Given the description of an element on the screen output the (x, y) to click on. 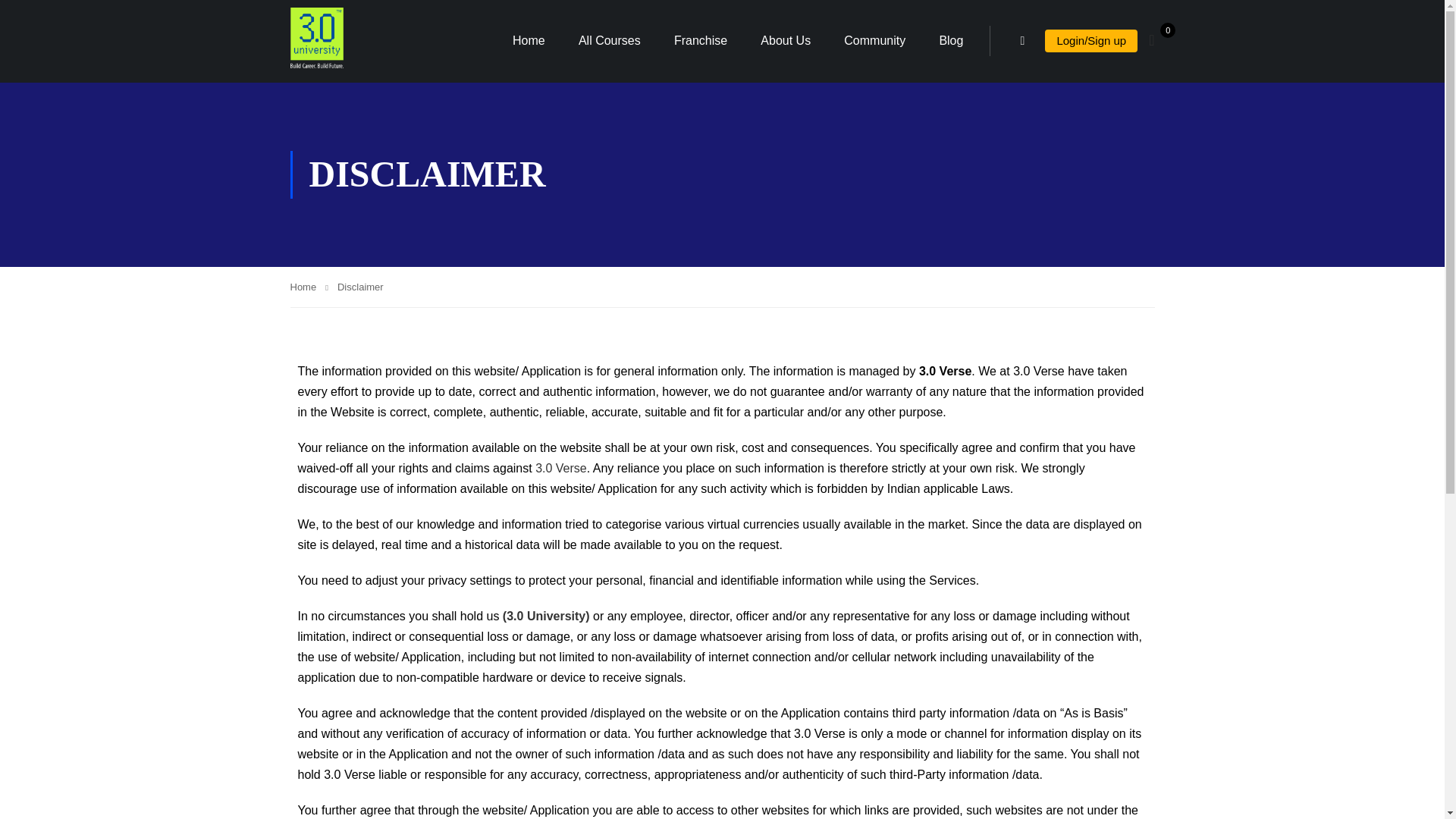
Home (308, 287)
About Us (785, 40)
Blog (950, 40)
3.0 Verse (944, 370)
Home (528, 40)
3.0 Verse (560, 468)
All Courses (609, 40)
Community (874, 40)
Franchise (700, 40)
